Given the description of an element on the screen output the (x, y) to click on. 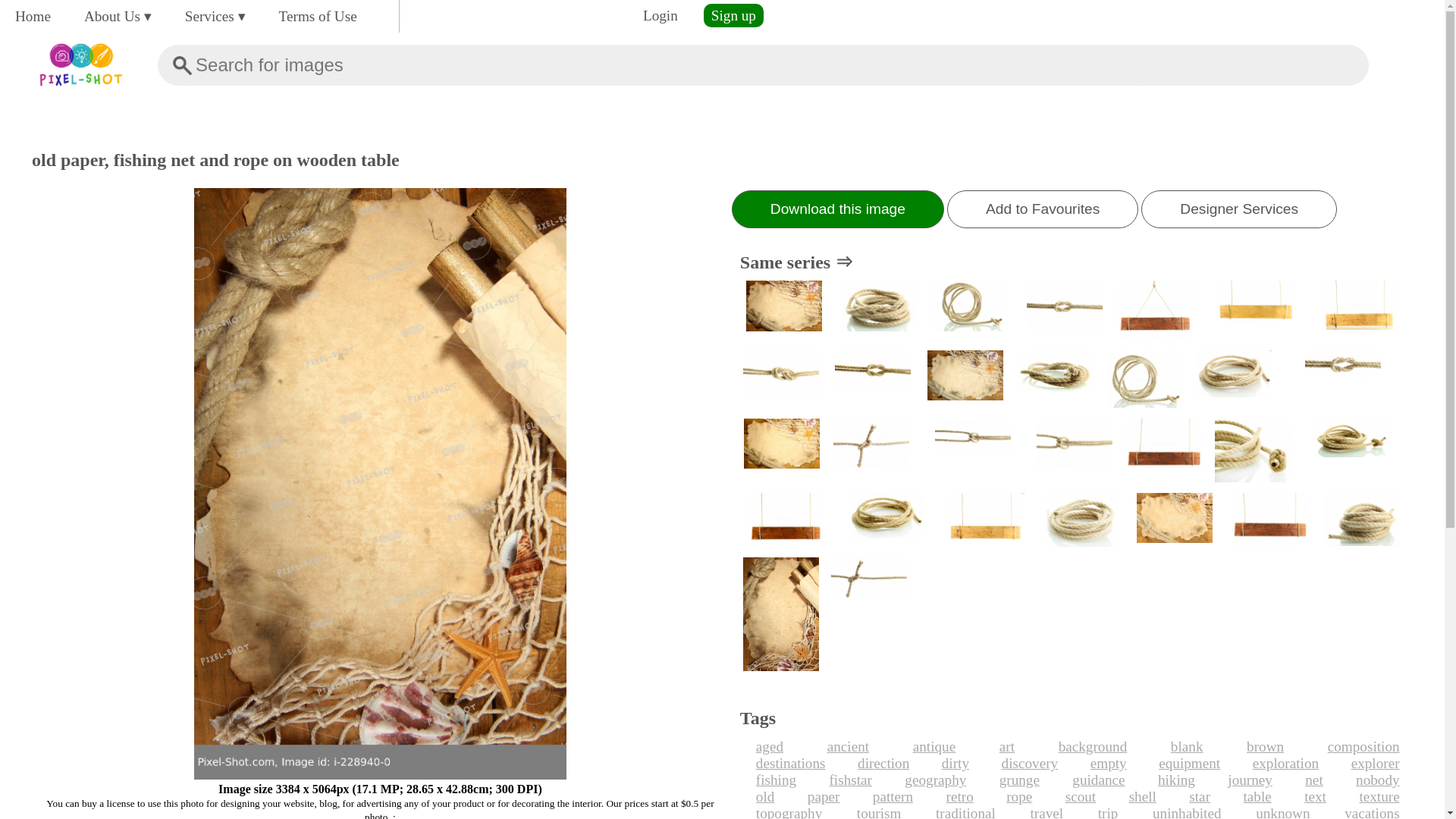
Download this image (837, 209)
Old paper, fishing net and rope on wooden table (784, 310)
Terms of Use (317, 15)
Blank wooden sign hanging on rope, isolated on white (1155, 310)
Home (32, 15)
Login (659, 15)
Buyer registration (732, 15)
Home (32, 15)
Add to Favourites (1042, 209)
